Given the description of an element on the screen output the (x, y) to click on. 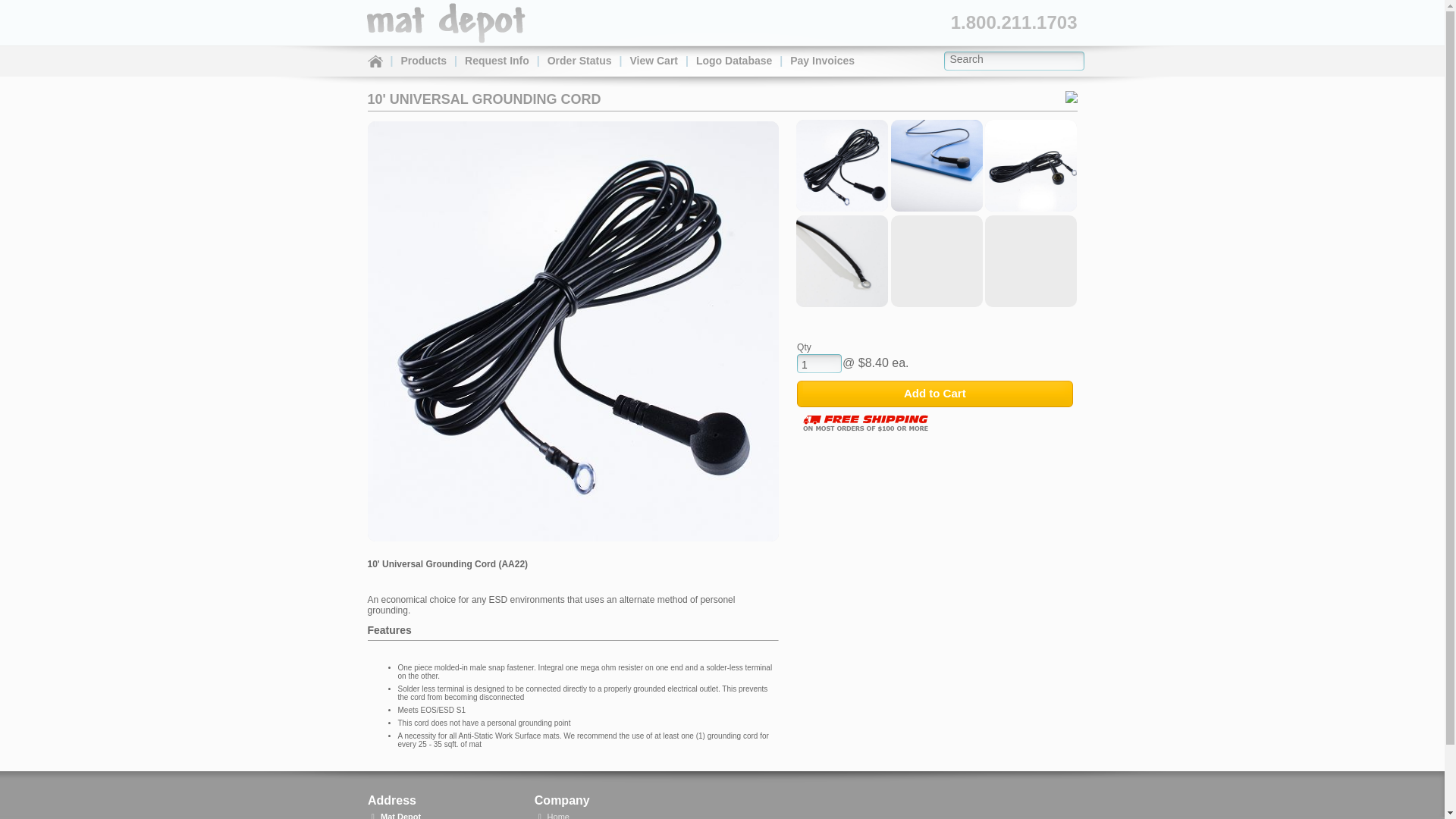
1 (818, 363)
View Cart (653, 60)
Order Status (580, 60)
Request Info (497, 60)
Request Info (497, 60)
Logo Database (733, 60)
Add to Cart (933, 393)
Products (423, 60)
home (445, 33)
Home (373, 61)
Pay Invoices (822, 60)
View Cart (653, 60)
Logo Database (733, 60)
Add to Cart (933, 393)
Home (558, 815)
